Given the description of an element on the screen output the (x, y) to click on. 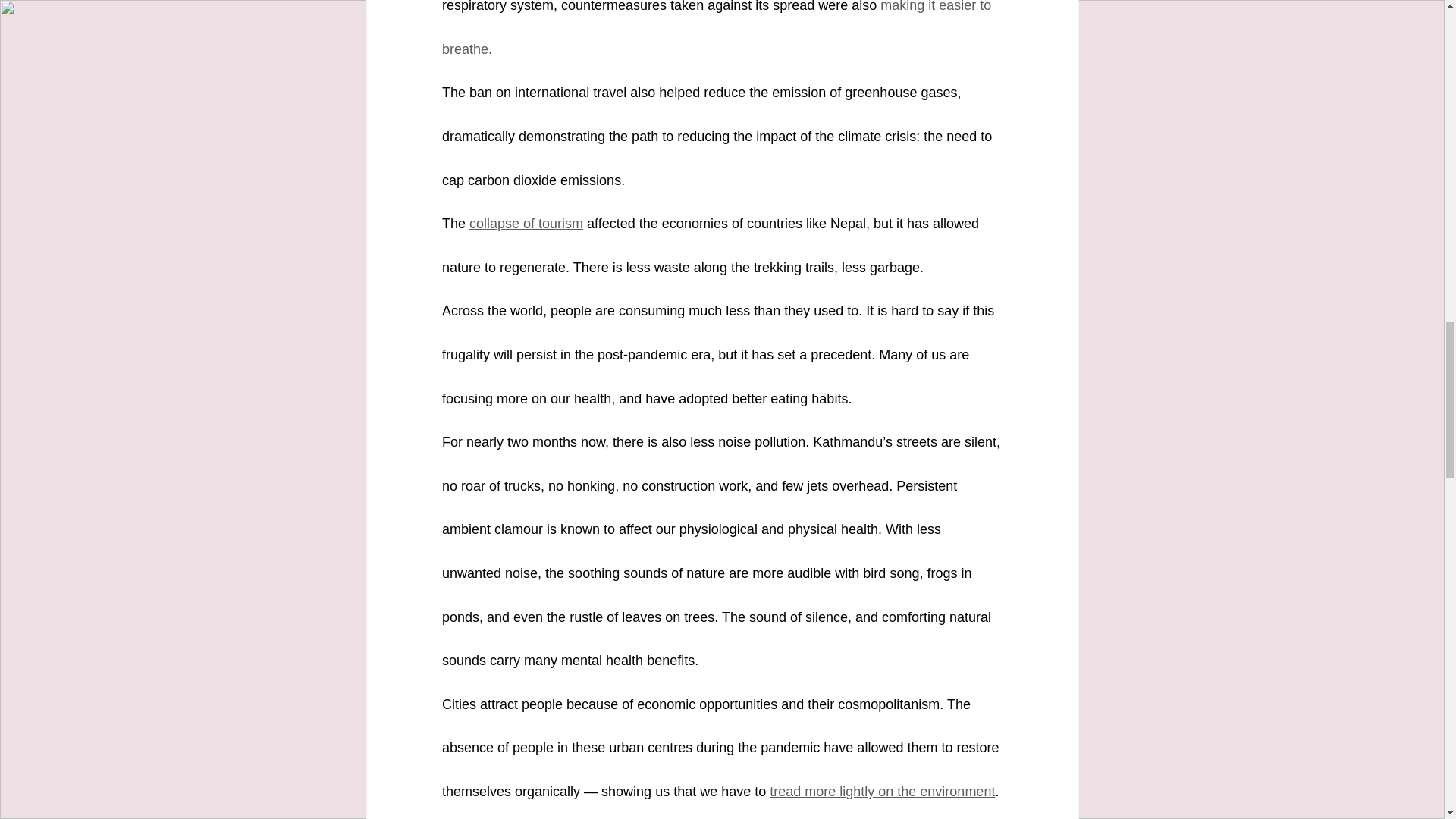
collapse of tourism (525, 223)
tread more lightly on the environment (882, 791)
making it easier to breathe. (717, 28)
